Given the description of an element on the screen output the (x, y) to click on. 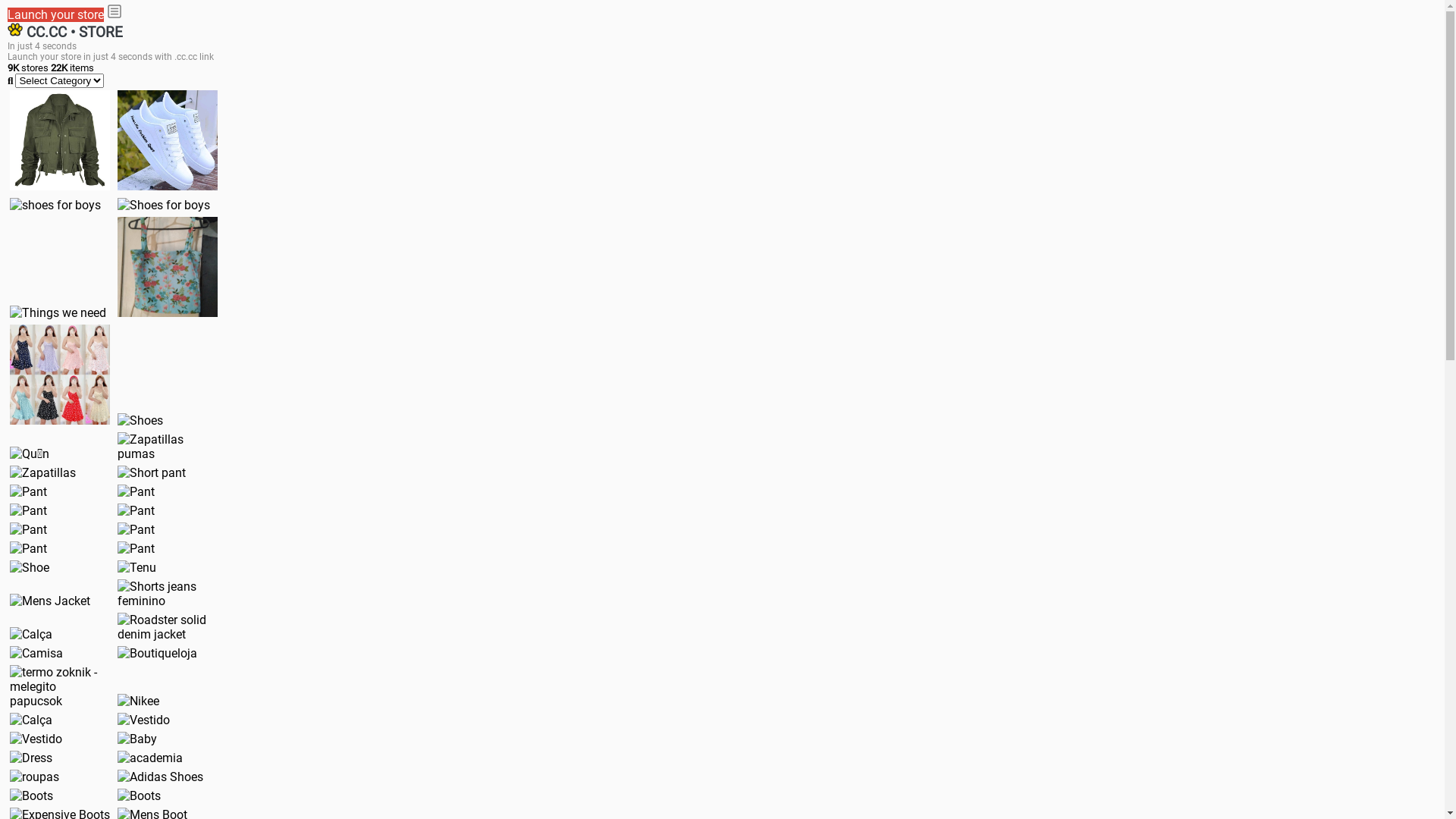
Tenu Element type: hover (136, 567)
Boots Element type: hover (31, 795)
Roadster solid denim jacket Element type: hover (167, 626)
Shorts jeans feminino Element type: hover (167, 593)
Adidas Shoes Element type: hover (160, 776)
Shoes for boys Element type: hover (163, 204)
academia Element type: hover (149, 757)
Camisa Element type: hover (35, 653)
Pant Element type: hover (135, 529)
roupas Element type: hover (34, 776)
white shoes Element type: hover (167, 140)
Things we need Element type: hover (57, 312)
Zapatillas Element type: hover (42, 472)
Boots Element type: hover (138, 795)
Pant Element type: hover (28, 529)
Launch your store Element type: text (55, 14)
Pant Element type: hover (135, 510)
Pant Element type: hover (135, 491)
Nikee Element type: hover (138, 700)
Vestido Element type: hover (35, 738)
Boutiqueloja Element type: hover (157, 653)
Vestido Element type: hover (143, 719)
Shoe Element type: hover (29, 567)
Ukay cloth Element type: hover (167, 266)
Pant Element type: hover (28, 510)
Shoes Element type: hover (140, 420)
Dress Element type: hover (30, 757)
Mens Jacket Element type: hover (49, 600)
jacket Element type: hover (59, 140)
Pant Element type: hover (135, 548)
Baby Element type: hover (136, 738)
shoes for boys Element type: hover (54, 204)
Pant Element type: hover (28, 491)
Short pant Element type: hover (151, 472)
Zapatillas pumas Element type: hover (167, 446)
termo zoknik - melegito papucsok Element type: hover (59, 686)
Dress/square nect top Element type: hover (59, 374)
Pant Element type: hover (28, 548)
